Given the description of an element on the screen output the (x, y) to click on. 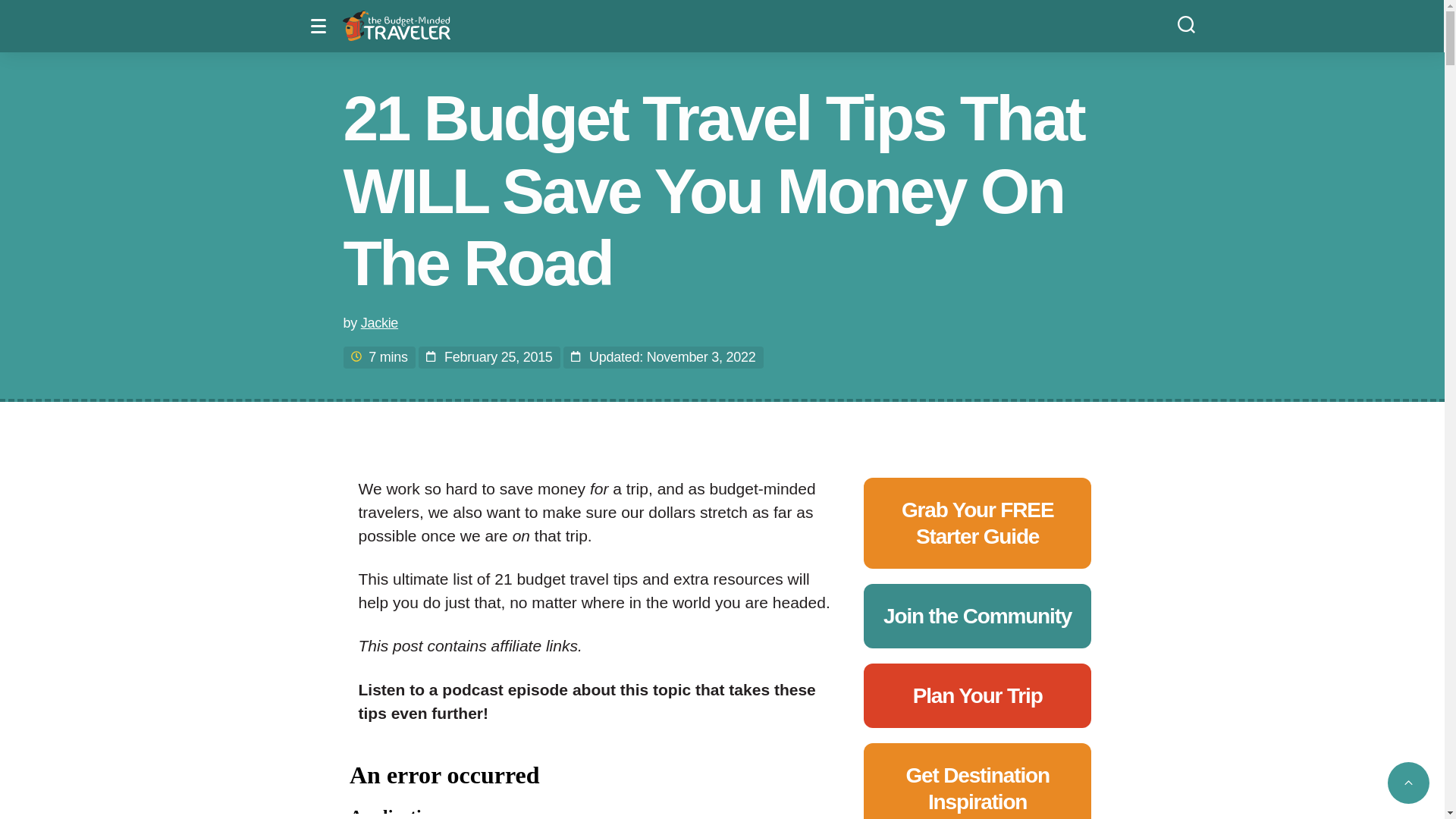
The Budget Minded Traveler (395, 25)
Libsyn Player (595, 779)
Search (1185, 23)
Jackie (379, 322)
Menu toggle (322, 25)
